Given the description of an element on the screen output the (x, y) to click on. 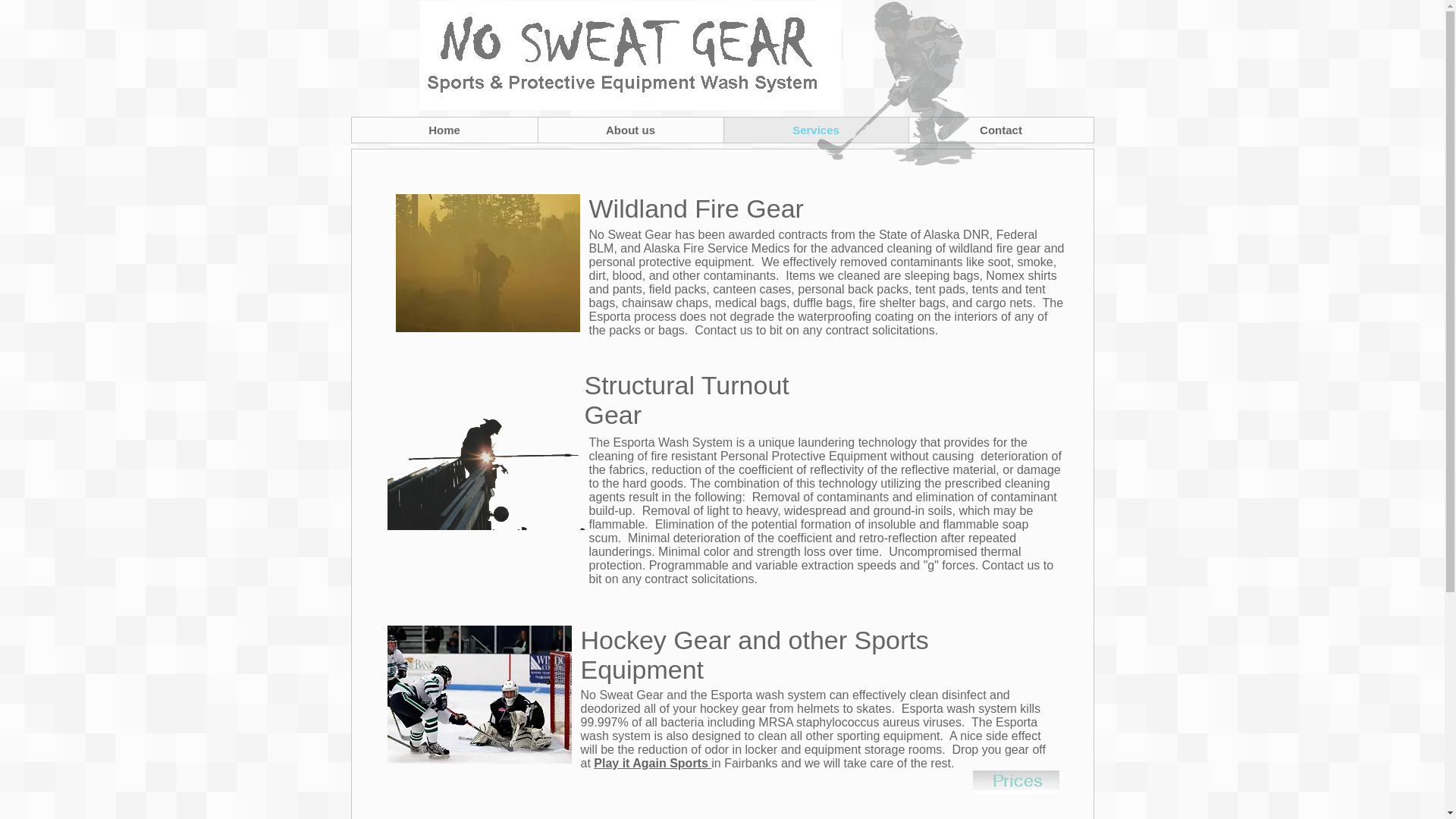
Play it Again Sports (652, 762)
Home (444, 129)
About us (629, 129)
Services (815, 129)
Contact (1000, 129)
